Given the description of an element on the screen output the (x, y) to click on. 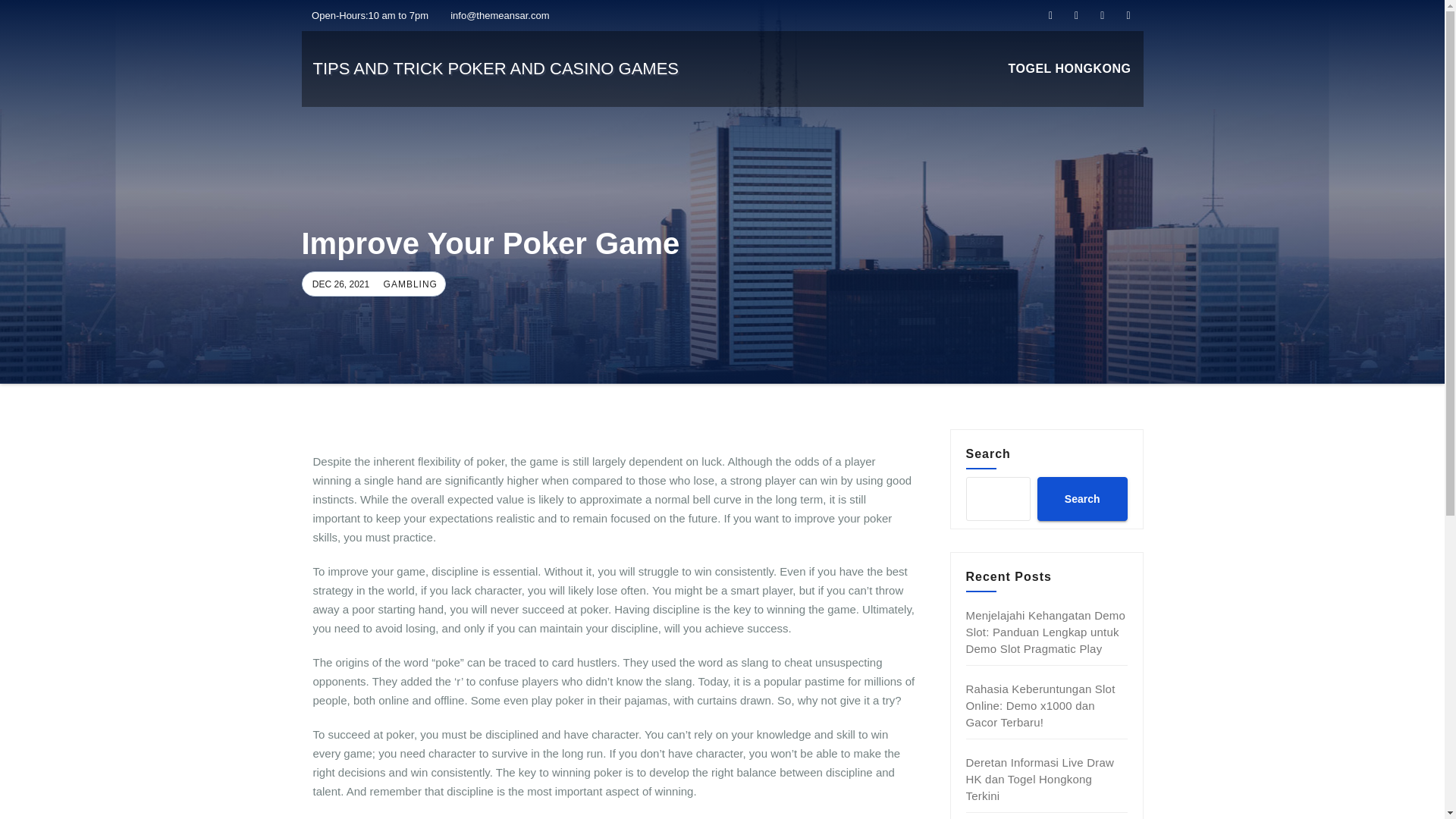
Deretan Informasi Live Draw HK dan Togel Hongkong Terkini (1039, 778)
Open-Hours:10 am to 7pm (365, 15)
Togel Hongkong (1068, 69)
GAMBLING (409, 284)
TIPS AND TRICK POKER AND CASINO GAMES (495, 68)
Search (1081, 498)
TOGEL HONGKONG (1068, 69)
